Given the description of an element on the screen output the (x, y) to click on. 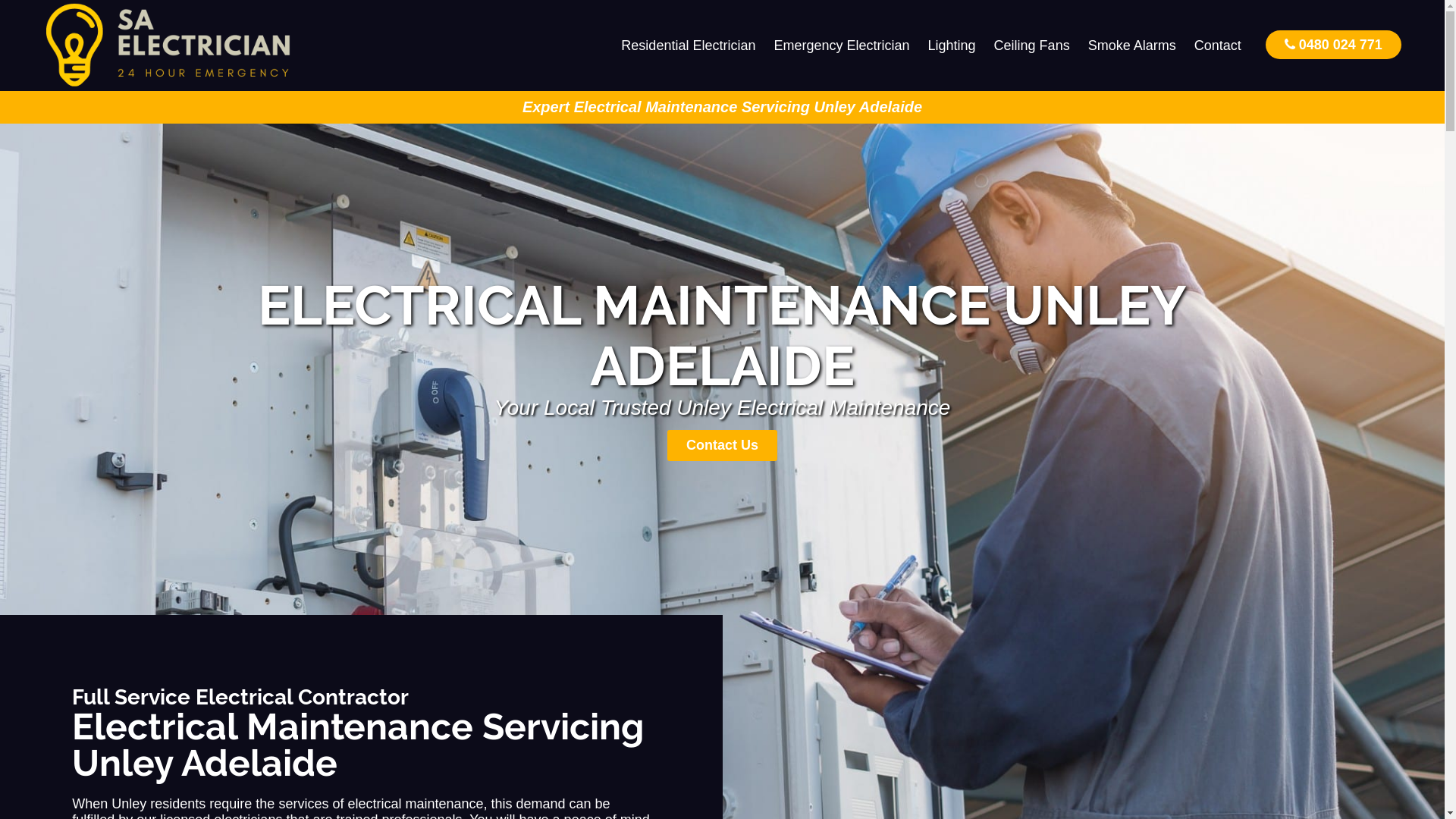
0480 024 771 Element type: text (1333, 44)
Emergency Electrician Element type: text (841, 45)
Smoke Alarms Element type: text (1132, 45)
Contact Element type: text (1217, 45)
Lighting Element type: text (952, 45)
Contact Us Element type: text (722, 445)
Residential Electrician Element type: text (687, 45)
Ceiling Fans Element type: text (1032, 45)
